Given the description of an element on the screen output the (x, y) to click on. 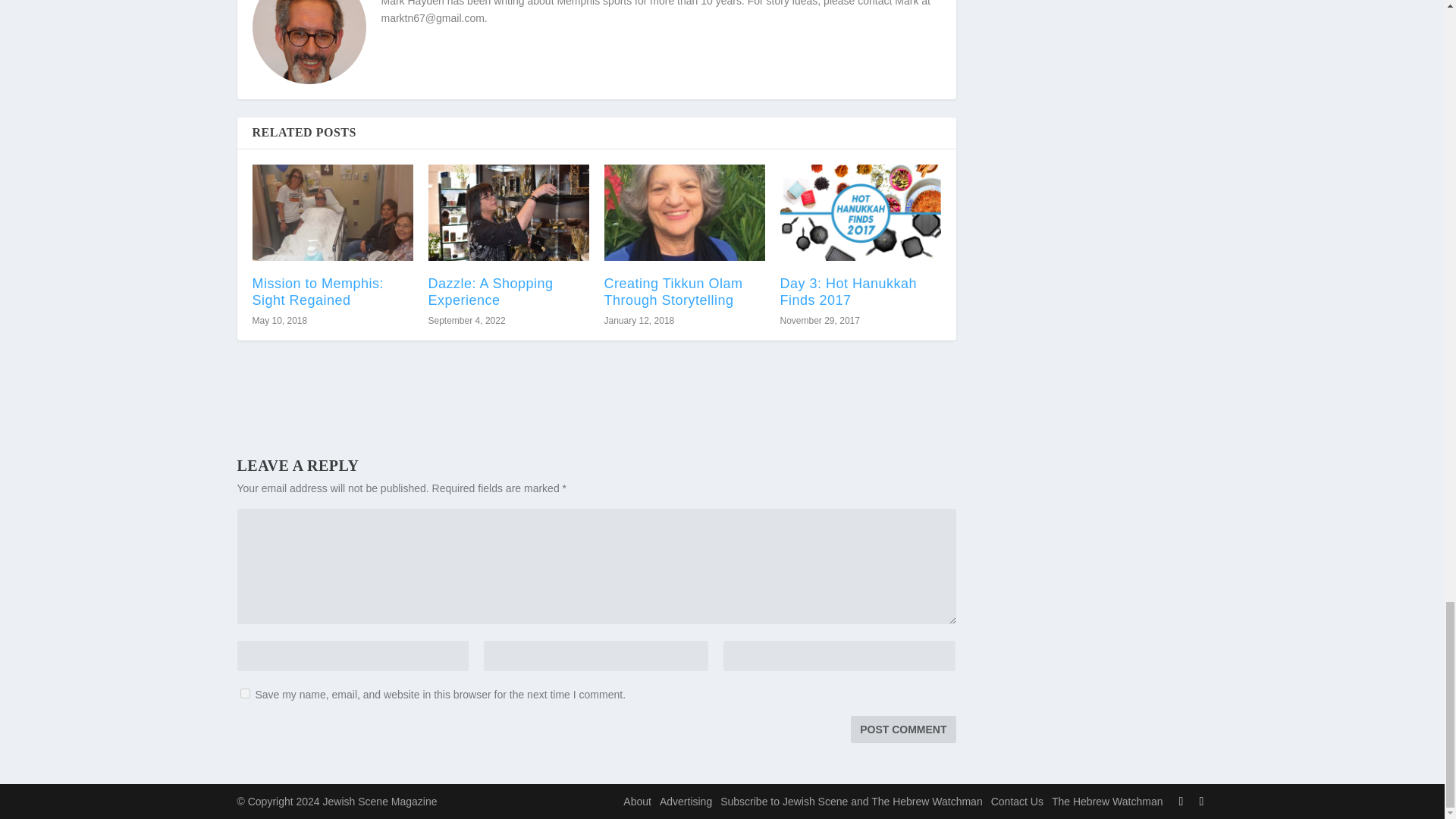
Post Comment (902, 728)
yes (244, 693)
